Given the description of an element on the screen output the (x, y) to click on. 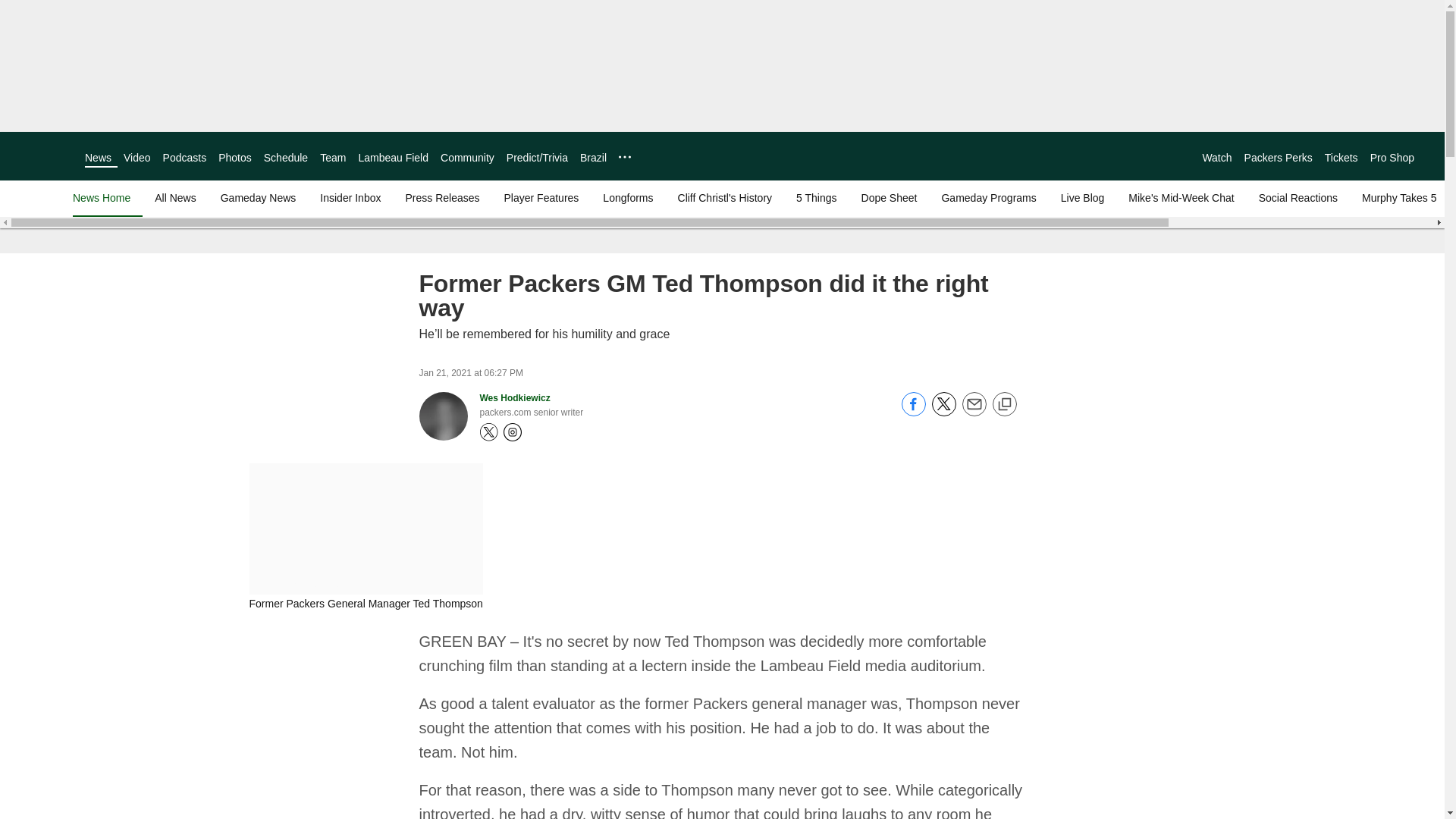
News (98, 157)
Dope Sheet (889, 197)
Longforms (627, 197)
Gameday Programs (988, 197)
Video (137, 157)
Schedule (285, 157)
Lambeau Field (393, 157)
Lambeau Field (393, 157)
Watch (1216, 157)
Photos (234, 157)
